Given the description of an element on the screen output the (x, y) to click on. 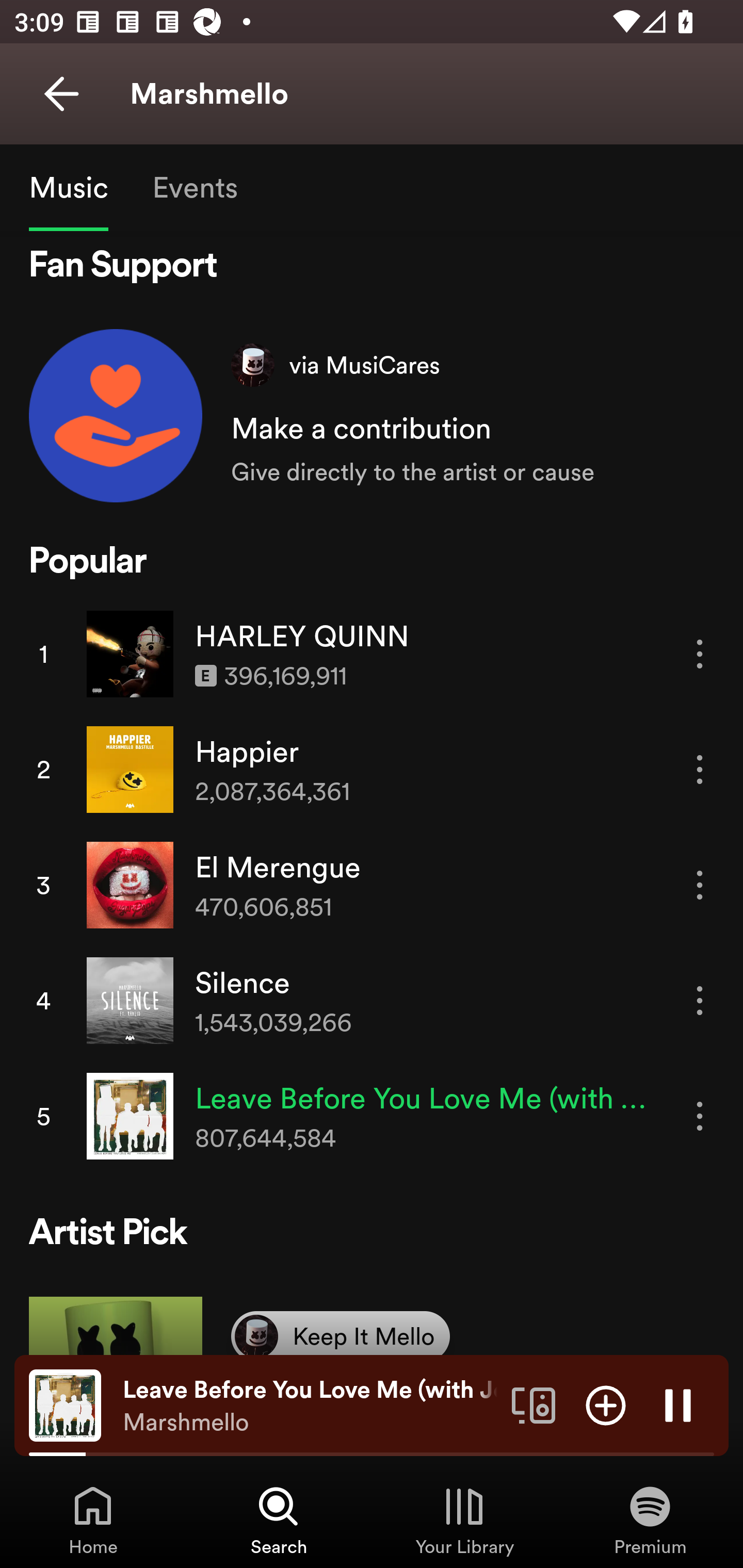
Back (60, 93)
Events (194, 187)
More options for song HARLEY QUINN (699, 653)
More options for song Happier (699, 768)
More options for song El Merengue (699, 885)
More options for song Silence (699, 1001)
The cover art of the currently playing track (64, 1404)
Connect to a device. Opens the devices menu (533, 1404)
Add item (605, 1404)
Pause (677, 1404)
Home, Tab 1 of 4 Home Home (92, 1519)
Search, Tab 2 of 4 Search Search (278, 1519)
Your Library, Tab 3 of 4 Your Library Your Library (464, 1519)
Premium, Tab 4 of 4 Premium Premium (650, 1519)
